Given the description of an element on the screen output the (x, y) to click on. 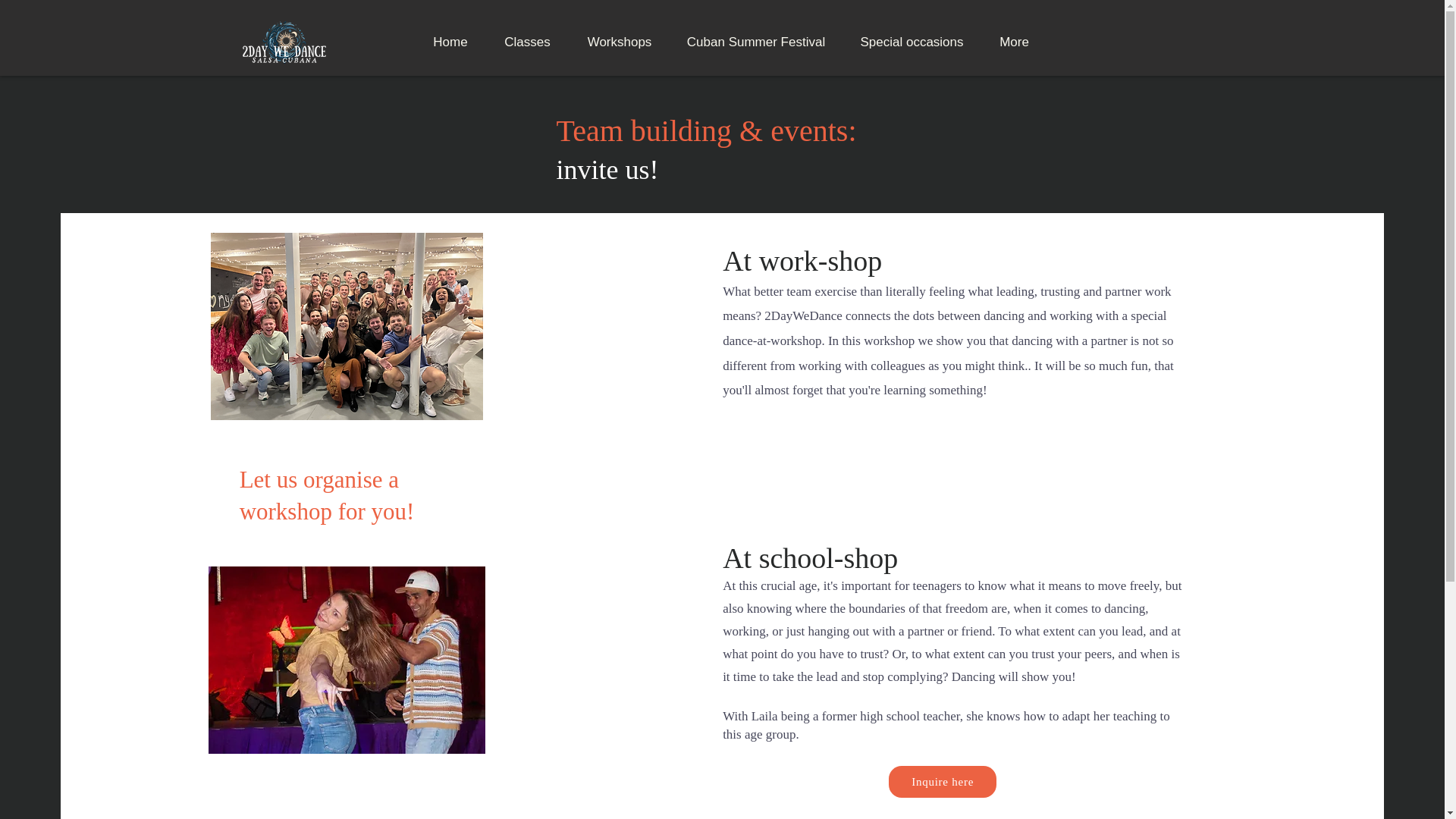
Cuban Summer Festival (756, 42)
Home (450, 42)
Inquire here (941, 781)
Special occasions (911, 42)
Classes (526, 42)
Workshops (619, 42)
